Given the description of an element on the screen output the (x, y) to click on. 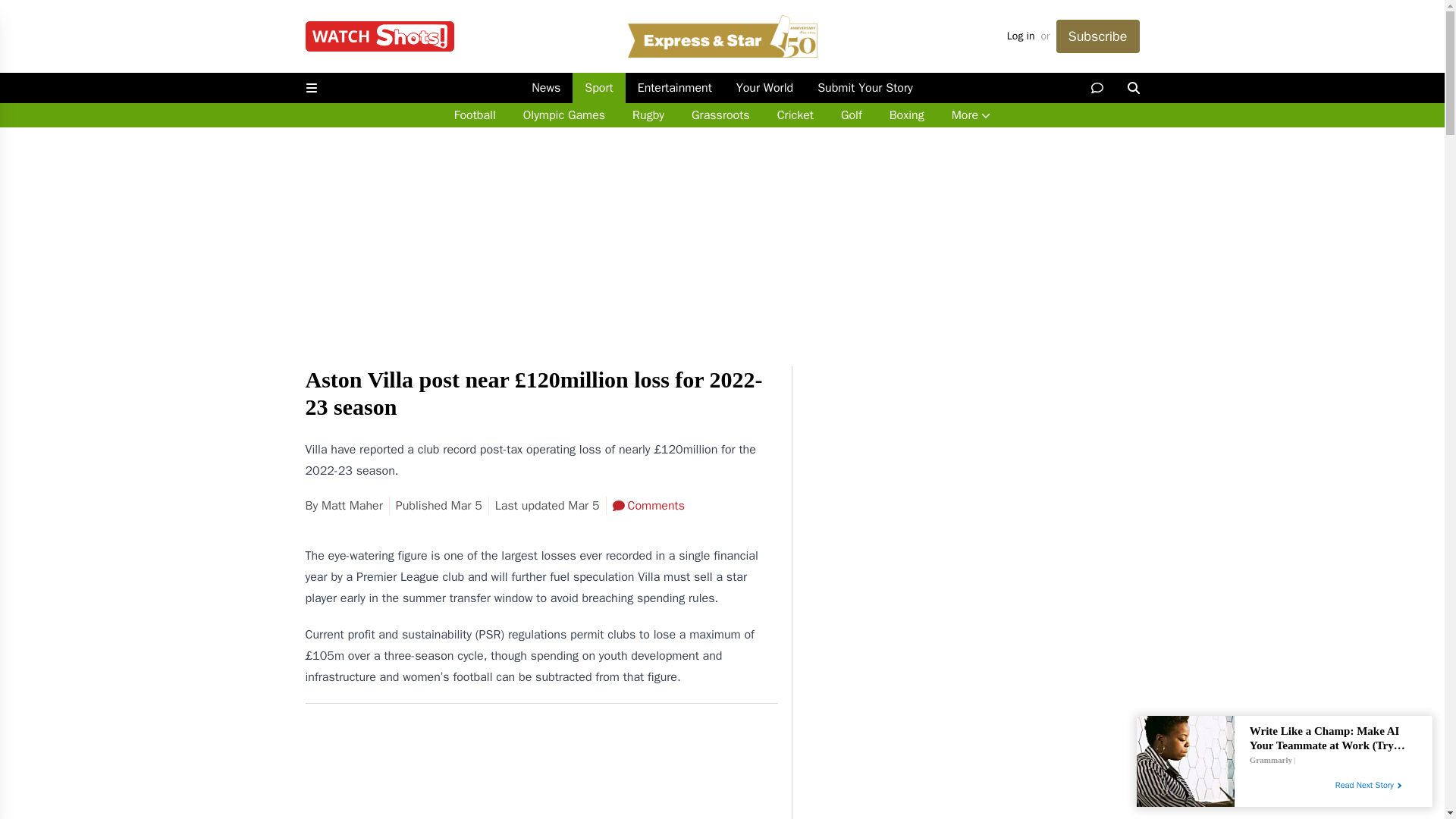
Sport (598, 87)
Log in (1021, 36)
Entertainment (674, 87)
Cricket (795, 115)
Your World (764, 87)
Submit Your Story (864, 87)
Golf (851, 115)
Football (475, 115)
Rugby (648, 115)
Olympic Games (564, 115)
News (545, 87)
Subscribe (1096, 36)
Boxing (906, 115)
Grassroots (720, 115)
